Given the description of an element on the screen output the (x, y) to click on. 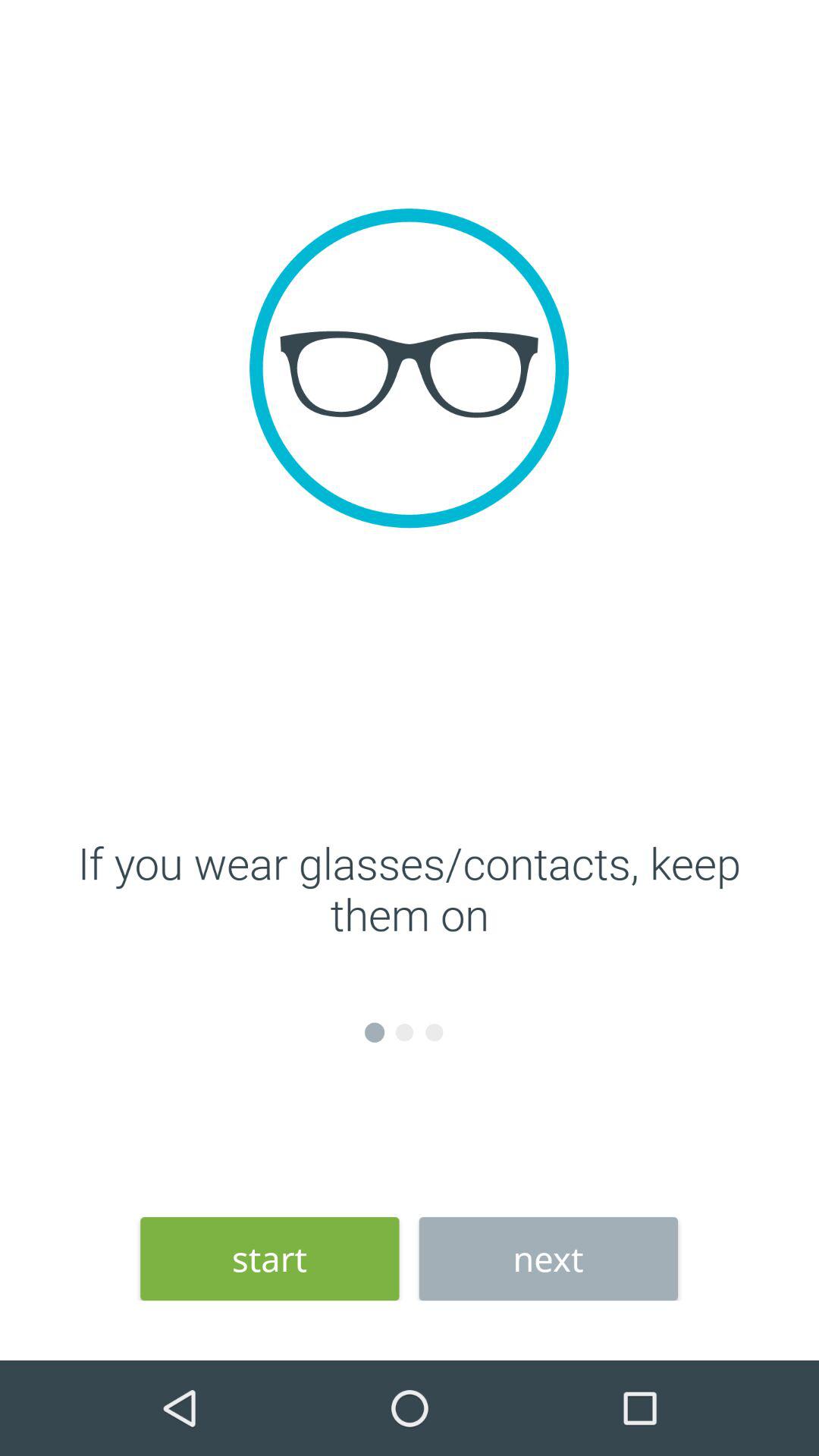
turn off icon at the bottom left corner (269, 1258)
